Given the description of an element on the screen output the (x, y) to click on. 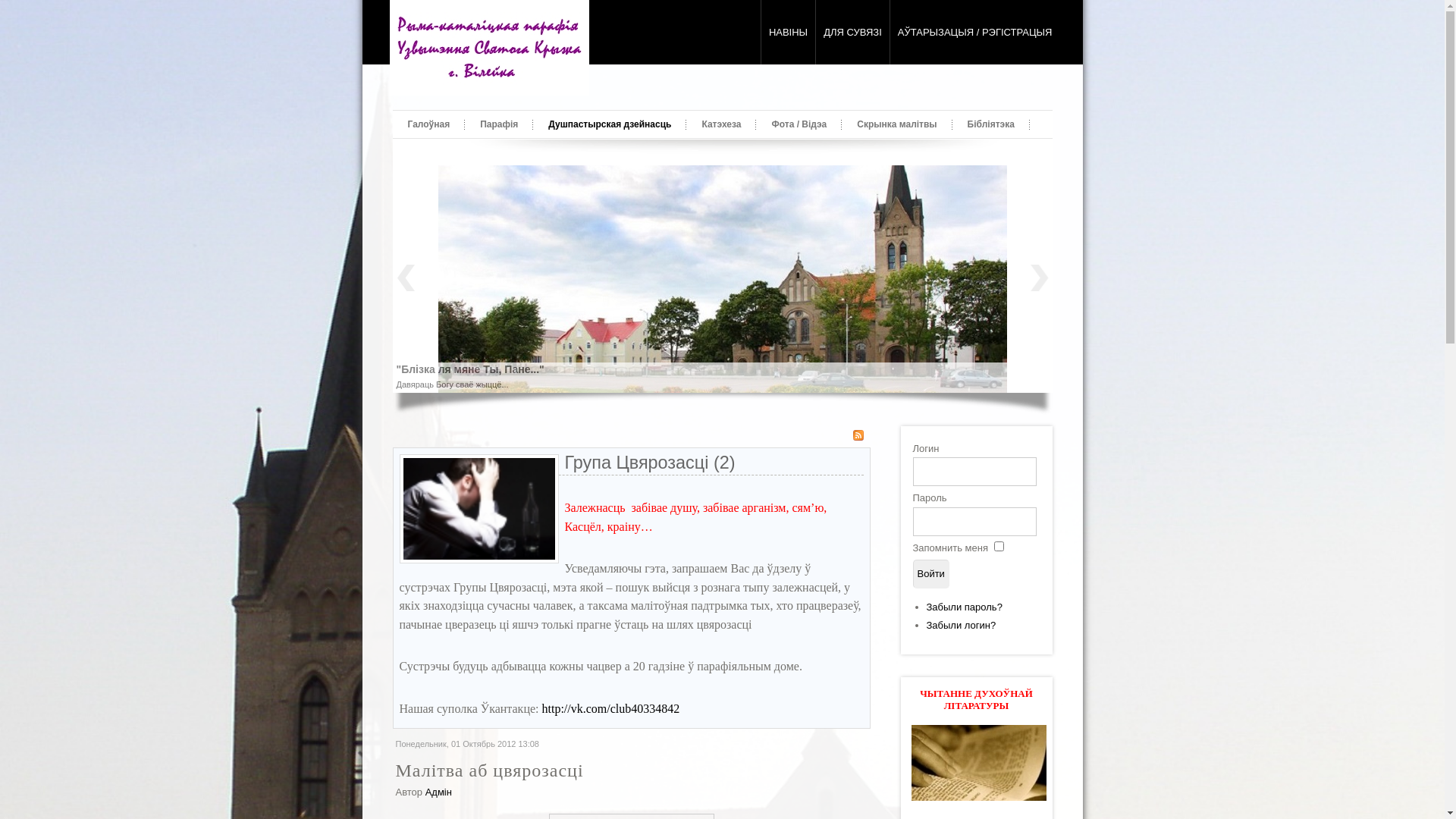
http://vk.com/club40334842 Element type: text (610, 708)
